Given the description of an element on the screen output the (x, y) to click on. 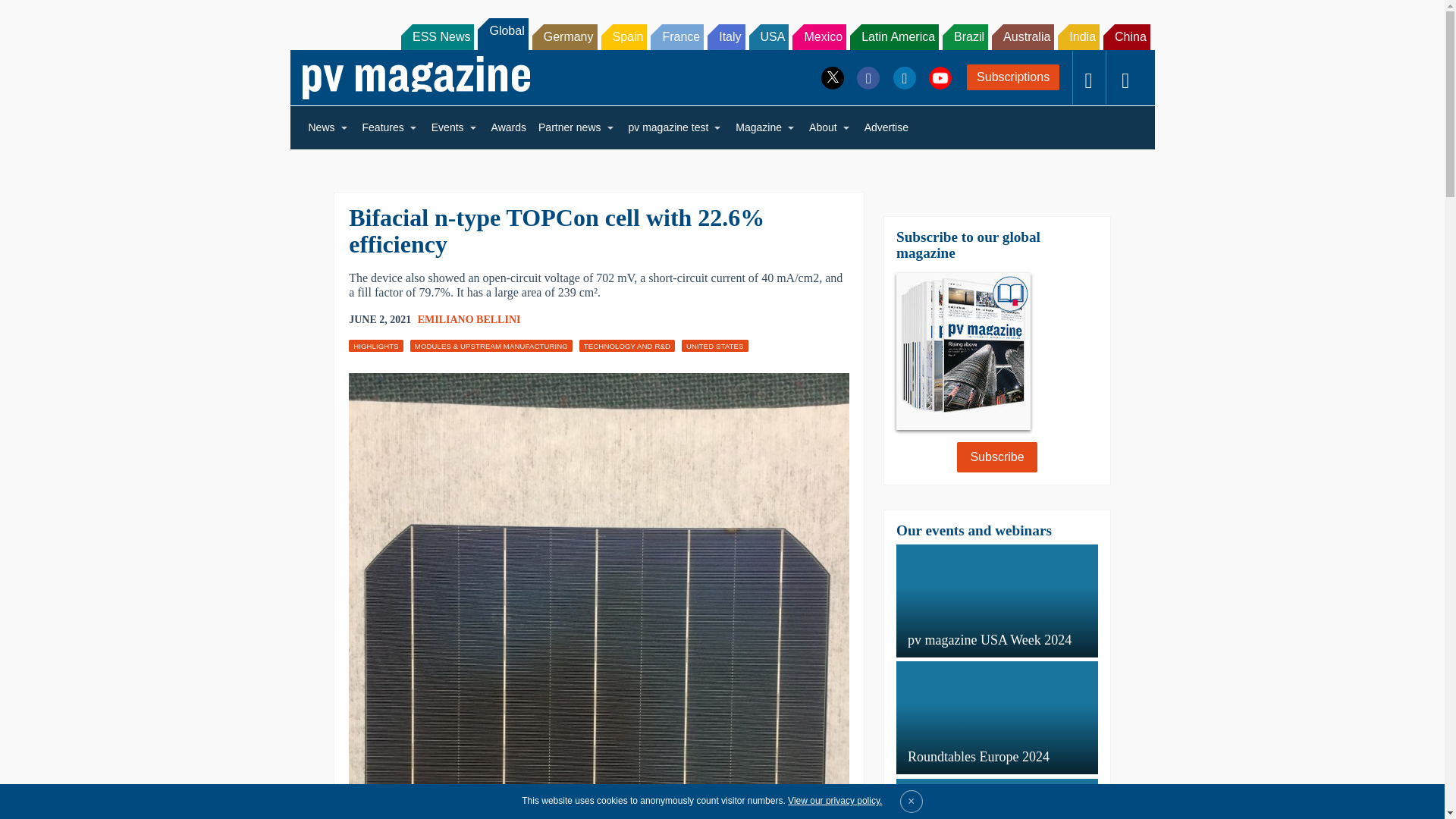
Mexico (818, 36)
Latin America (894, 36)
Wednesday, June 2, 2021, 3:18 pm (379, 320)
Posts by Emiliano Bellini (469, 319)
Brazil (965, 36)
Search (32, 15)
USA (769, 36)
Subscriptions (1012, 77)
France (676, 36)
China (1126, 36)
